Given the description of an element on the screen output the (x, y) to click on. 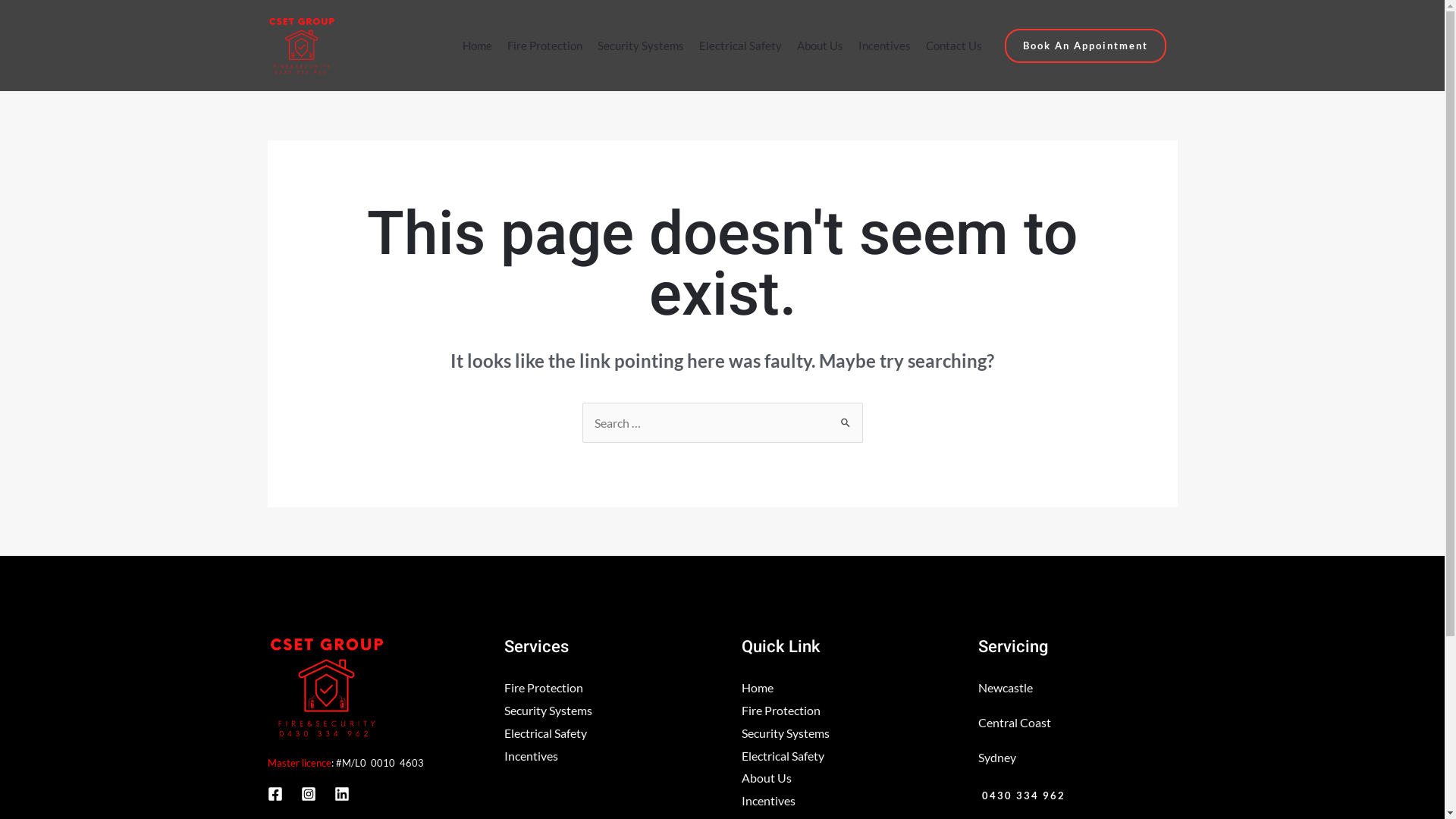
Home Element type: text (477, 45)
Fire Protection Element type: text (780, 709)
Incentives Element type: text (768, 800)
Security Systems Element type: text (640, 45)
Incentives Element type: text (884, 45)
Electrical Safety Element type: text (740, 45)
Incentives Element type: text (531, 755)
Search Element type: text (845, 417)
Electrical Safety Element type: text (782, 755)
Security Systems Element type: text (548, 709)
About Us Element type: text (819, 45)
 0430 334 962 Element type: text (1021, 795)
About Us Element type: text (766, 777)
Fire Protection Element type: text (544, 45)
Fire Protection Element type: text (543, 687)
Book An Appointment Element type: text (1085, 45)
Electrical Safety Element type: text (545, 732)
Security Systems Element type: text (785, 732)
Home Element type: text (757, 687)
Contact Us Element type: text (953, 45)
